Given the description of an element on the screen output the (x, y) to click on. 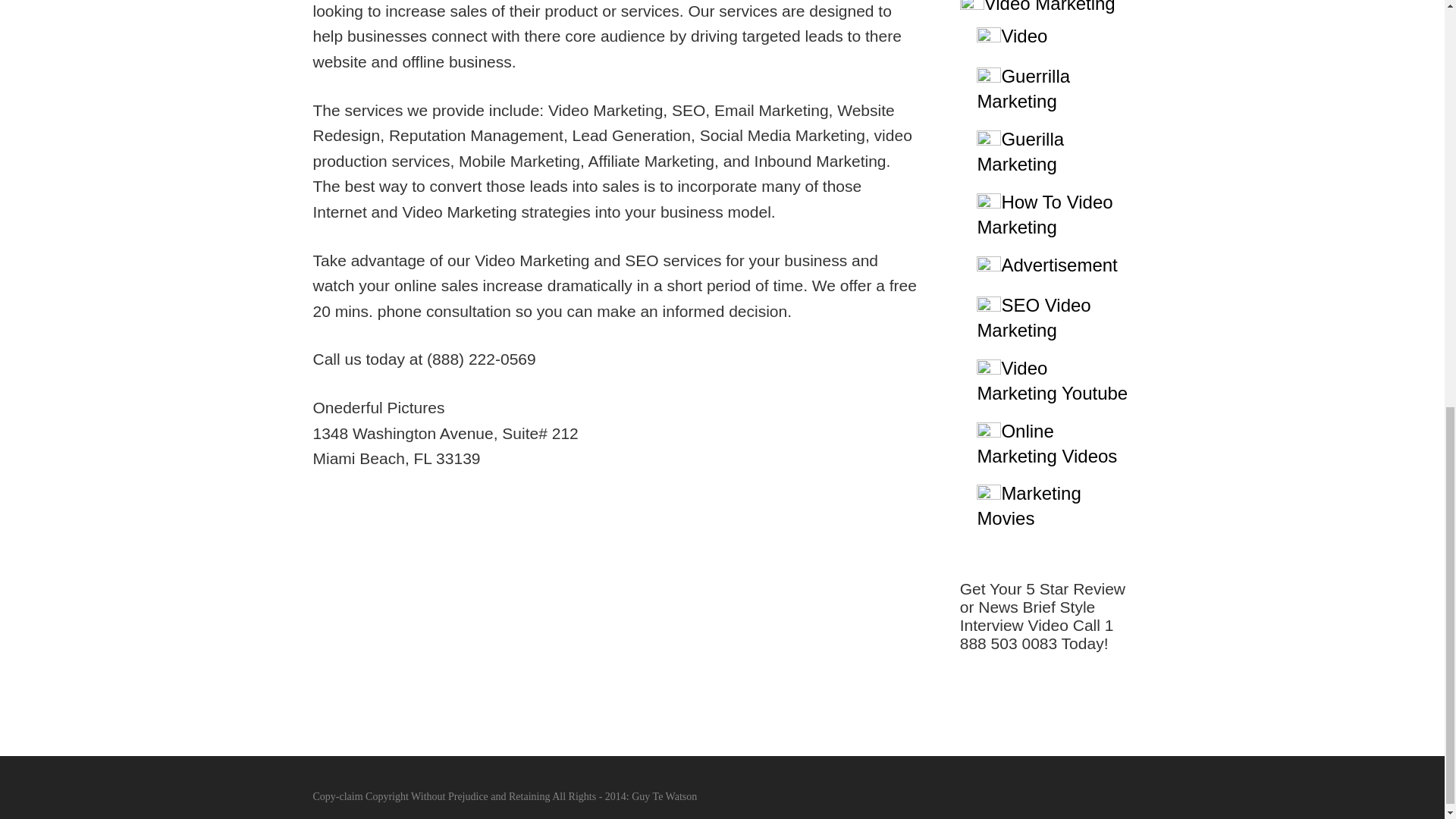
Online Marketing Videos (1046, 443)
Video (1023, 35)
SEO Video Marketing (1033, 317)
How To Video Marketing (1044, 214)
Video Marketing Youtube (1051, 380)
Guerrilla Marketing (1023, 88)
Advertisement (1058, 264)
Guerilla Marketing (1020, 151)
Video Marketing (1049, 6)
Marketing Movies (1028, 505)
